Given the description of an element on the screen output the (x, y) to click on. 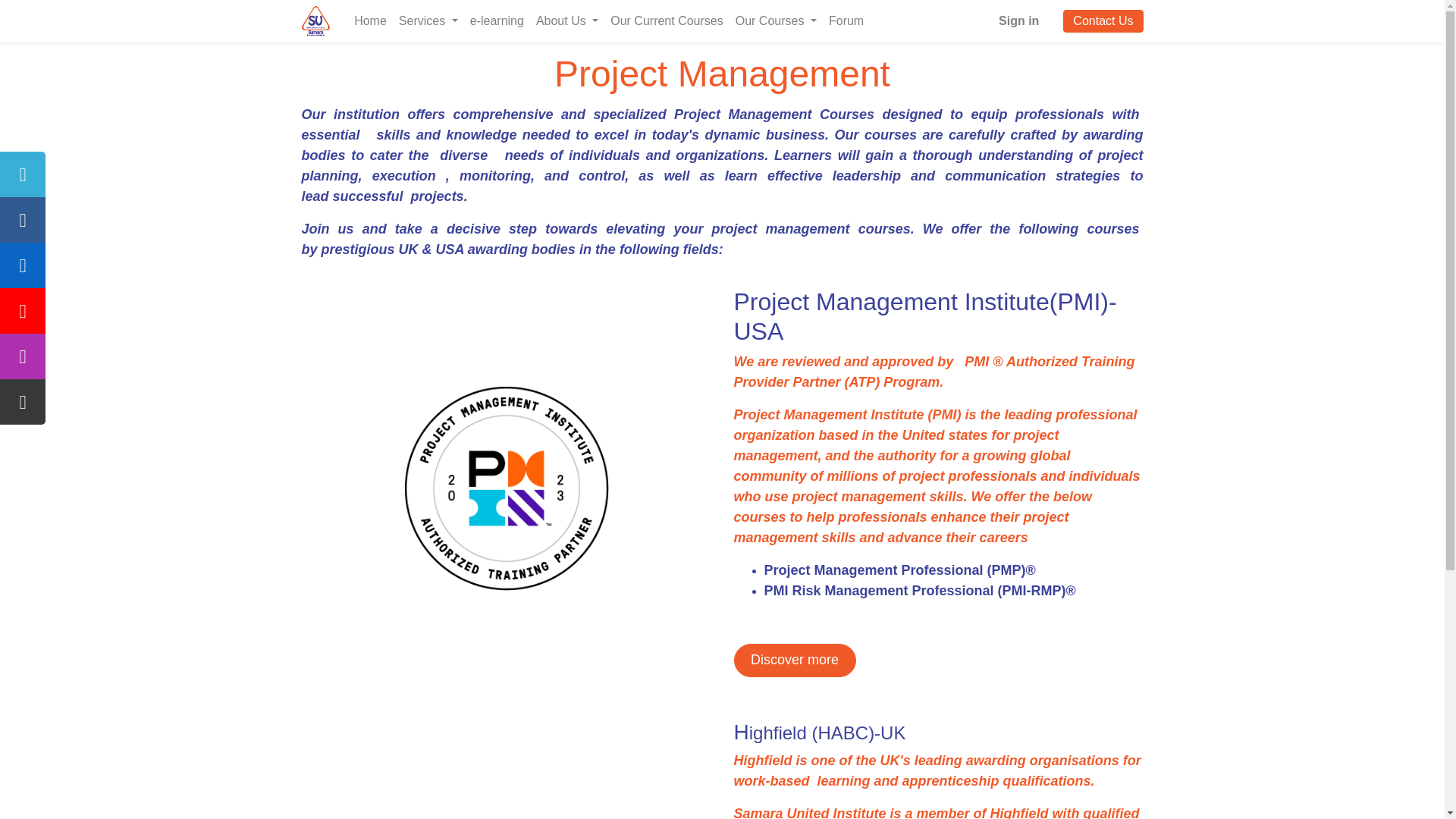
e-learning (496, 20)
Discover more (794, 659)
Forum (845, 20)
About Us (566, 20)
Sign in (1018, 20)
Our Courses (775, 20)
Services (428, 20)
Contact Us (1102, 20)
Our Current Courses (666, 20)
Home (370, 20)
